Given the description of an element on the screen output the (x, y) to click on. 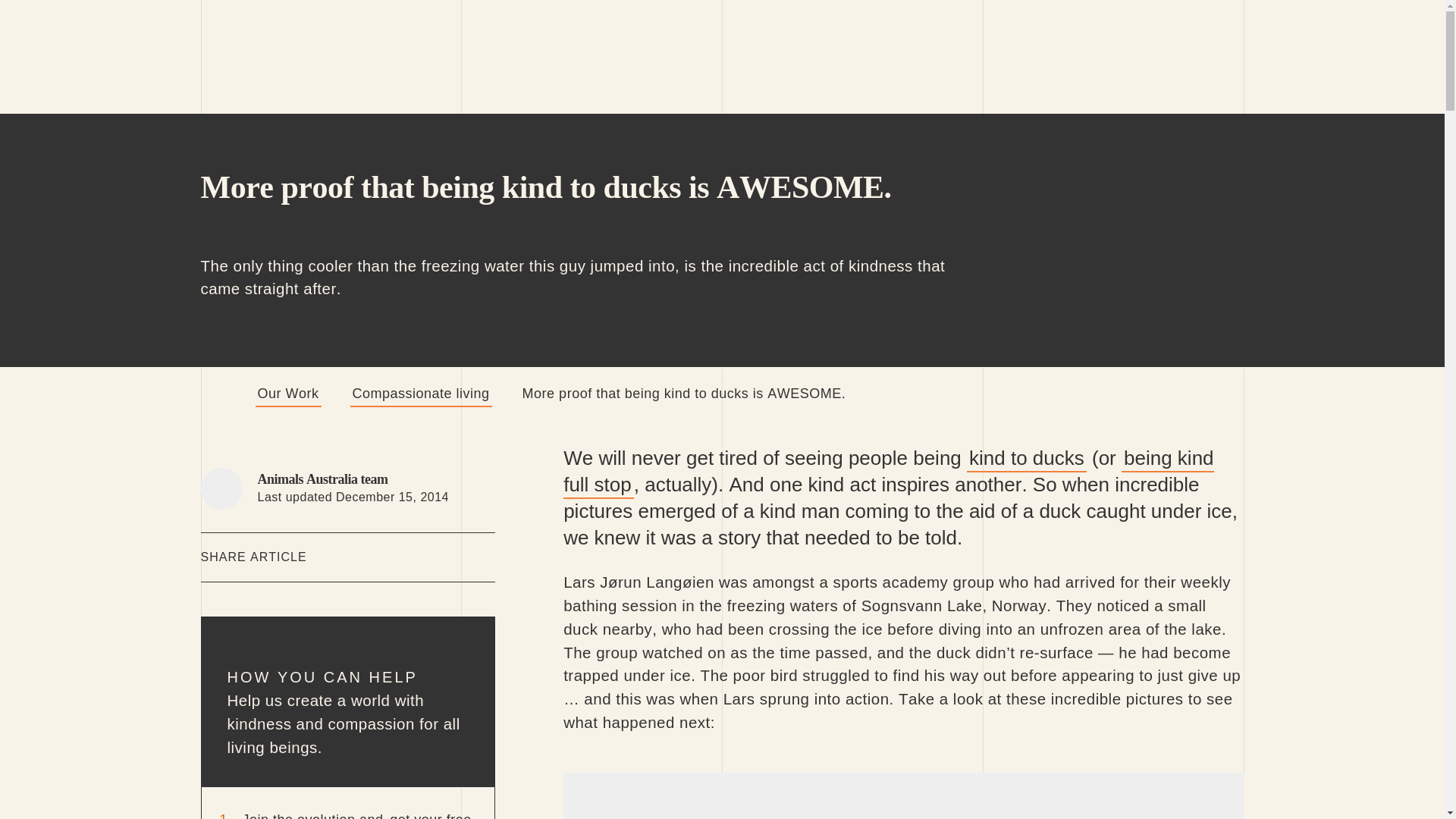
Home (216, 394)
Our Work (287, 394)
Compassionate living (421, 394)
kind to ducks (1026, 458)
get your free guide to a kinder world (357, 814)
being kind full stop (887, 471)
Tweet on Twitter (482, 557)
Share on Facebook (435, 557)
